Given the description of an element on the screen output the (x, y) to click on. 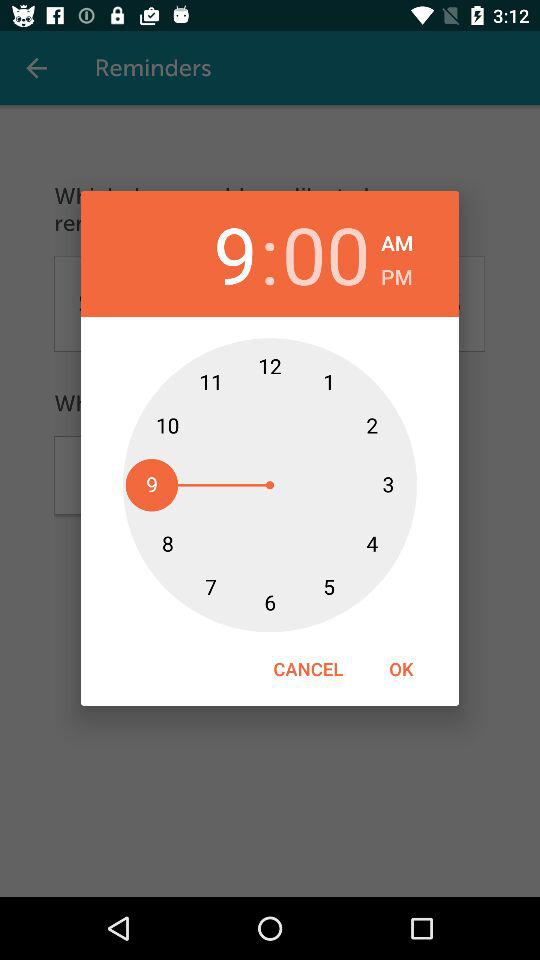
open the ok at the bottom right corner (401, 668)
